Given the description of an element on the screen output the (x, y) to click on. 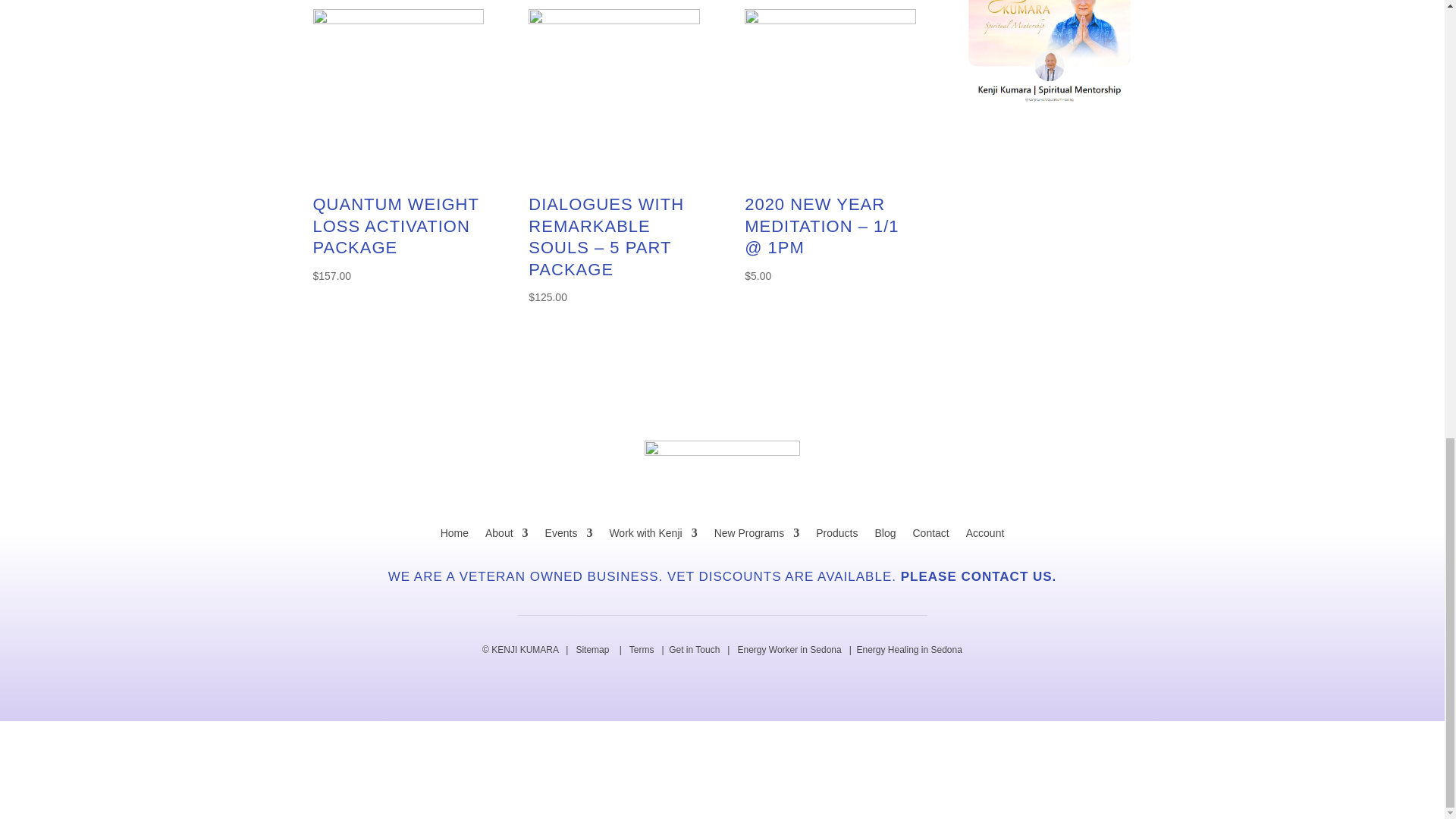
Energy Healing in Sedona (908, 649)
Energy Worker in Sedona (788, 649)
kenji-kumara-newlogo2 (722, 469)
Terms (640, 649)
Get in touch (693, 649)
